Given the description of an element on the screen output the (x, y) to click on. 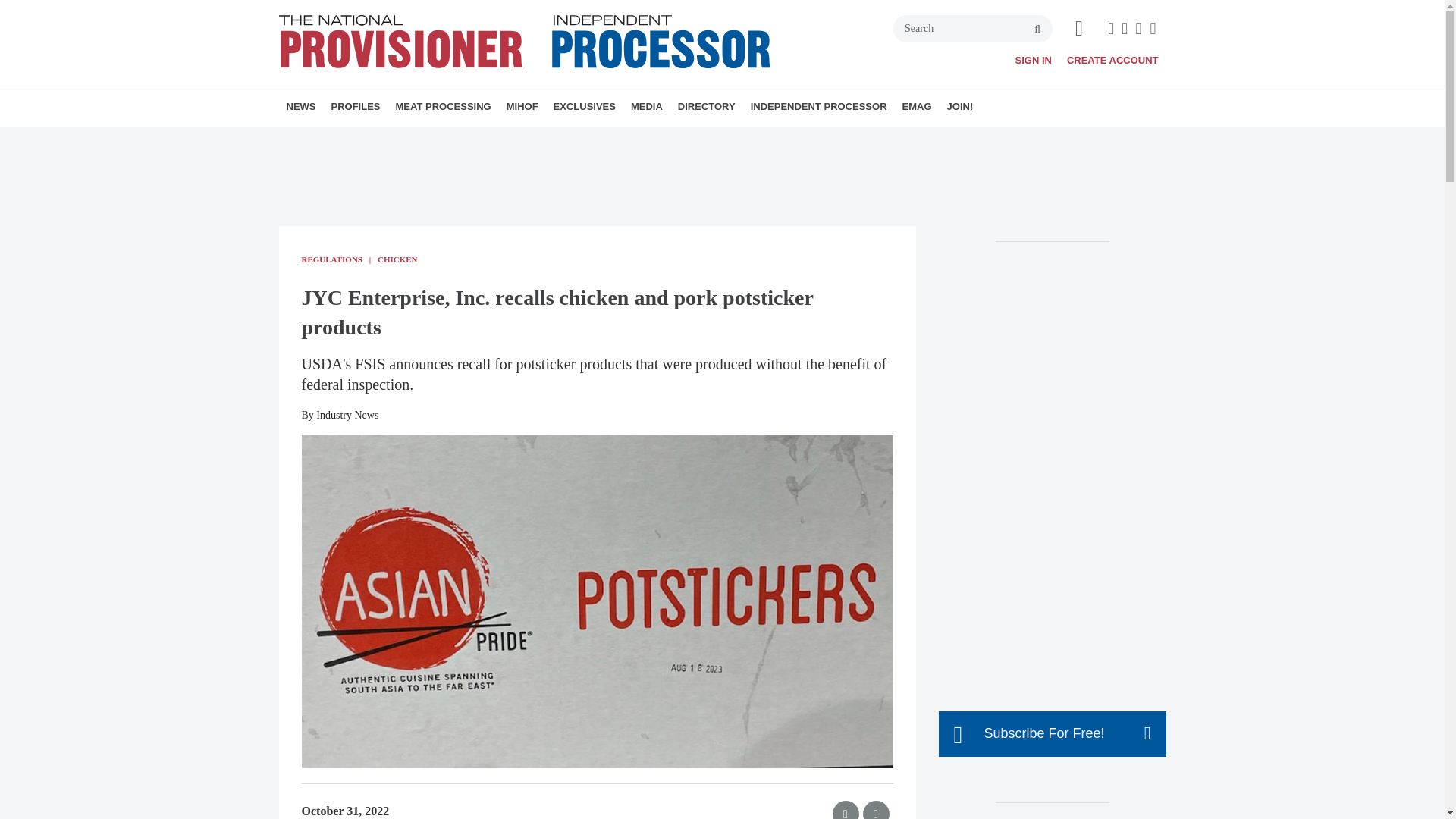
MIHOF (522, 106)
TOP 100 PROCESSORS (430, 139)
PROCESSOR PROFILES (417, 139)
REGULATIONS (397, 139)
SUPPLIER NEWS (380, 139)
EVENTS (647, 139)
search (1037, 29)
RECALLS (391, 139)
NEWS (301, 106)
FOOD SAFETY (509, 139)
